Given the description of an element on the screen output the (x, y) to click on. 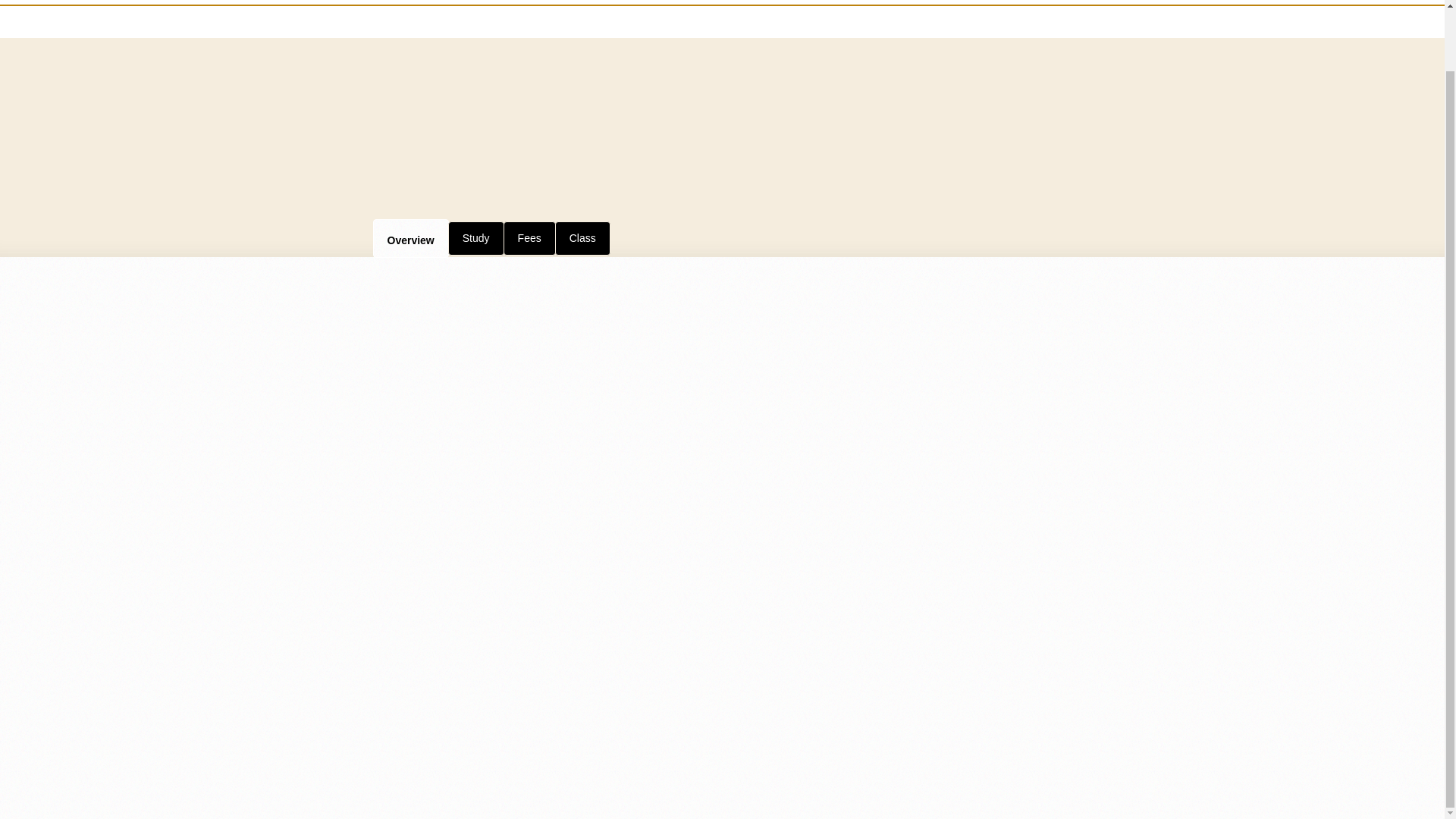
Overview (410, 238)
Study (475, 237)
Fees (529, 237)
Class (582, 237)
